Given the description of an element on the screen output the (x, y) to click on. 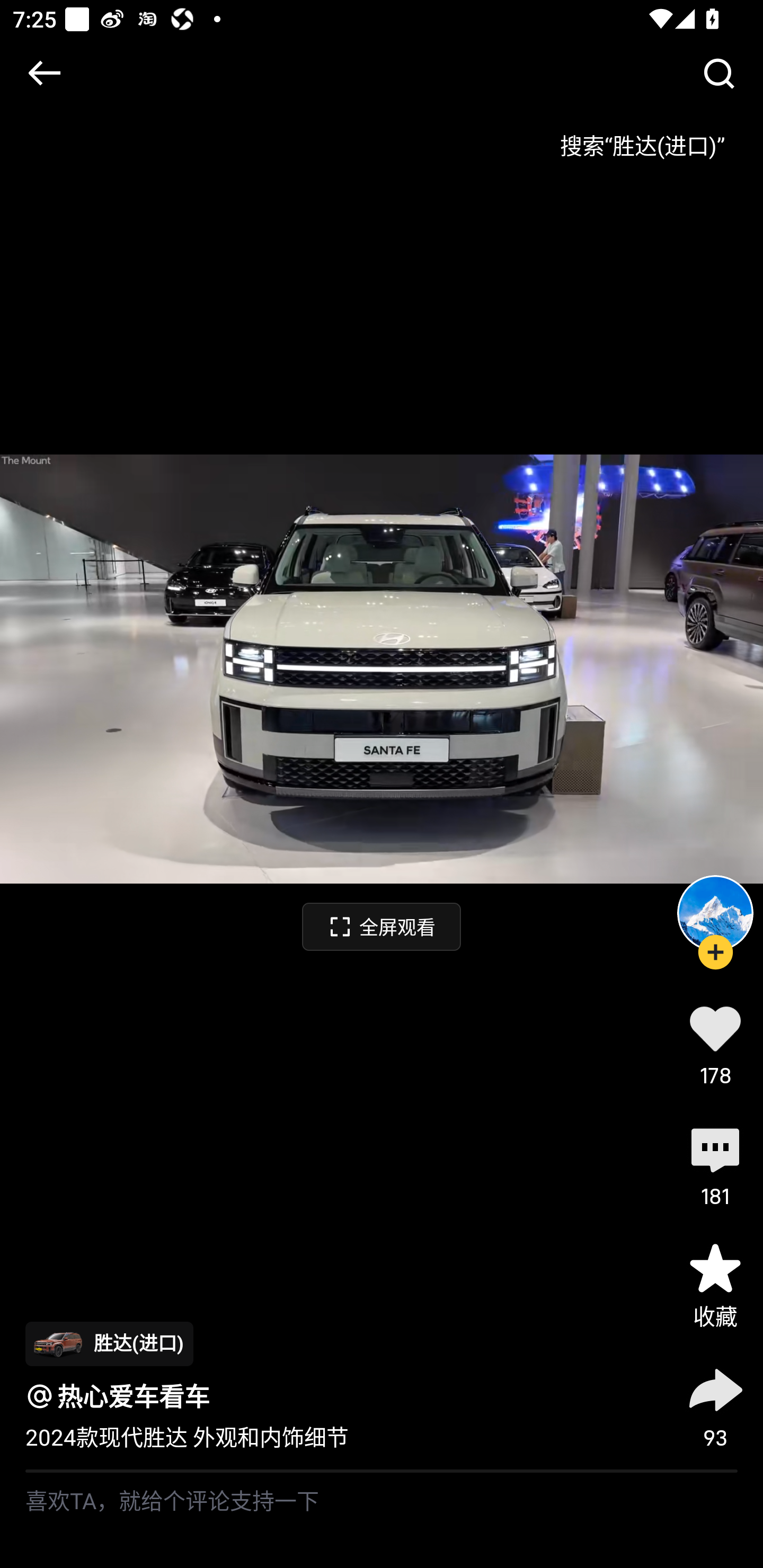
 (44, 72)
 (718, 72)
搜索“胜达(进口)” (642, 139)
 全屏观看 (381, 926)
181 (715, 1164)
收藏 (715, 1284)
胜达(进口) (109, 1343)
93 (715, 1405)
热心爱车看车 (133, 1396)
2024款现代胜达 外观和内饰细节 (186, 1437)
喜欢TA，就给个评论支持一下 (381, 1520)
